Given the description of an element on the screen output the (x, y) to click on. 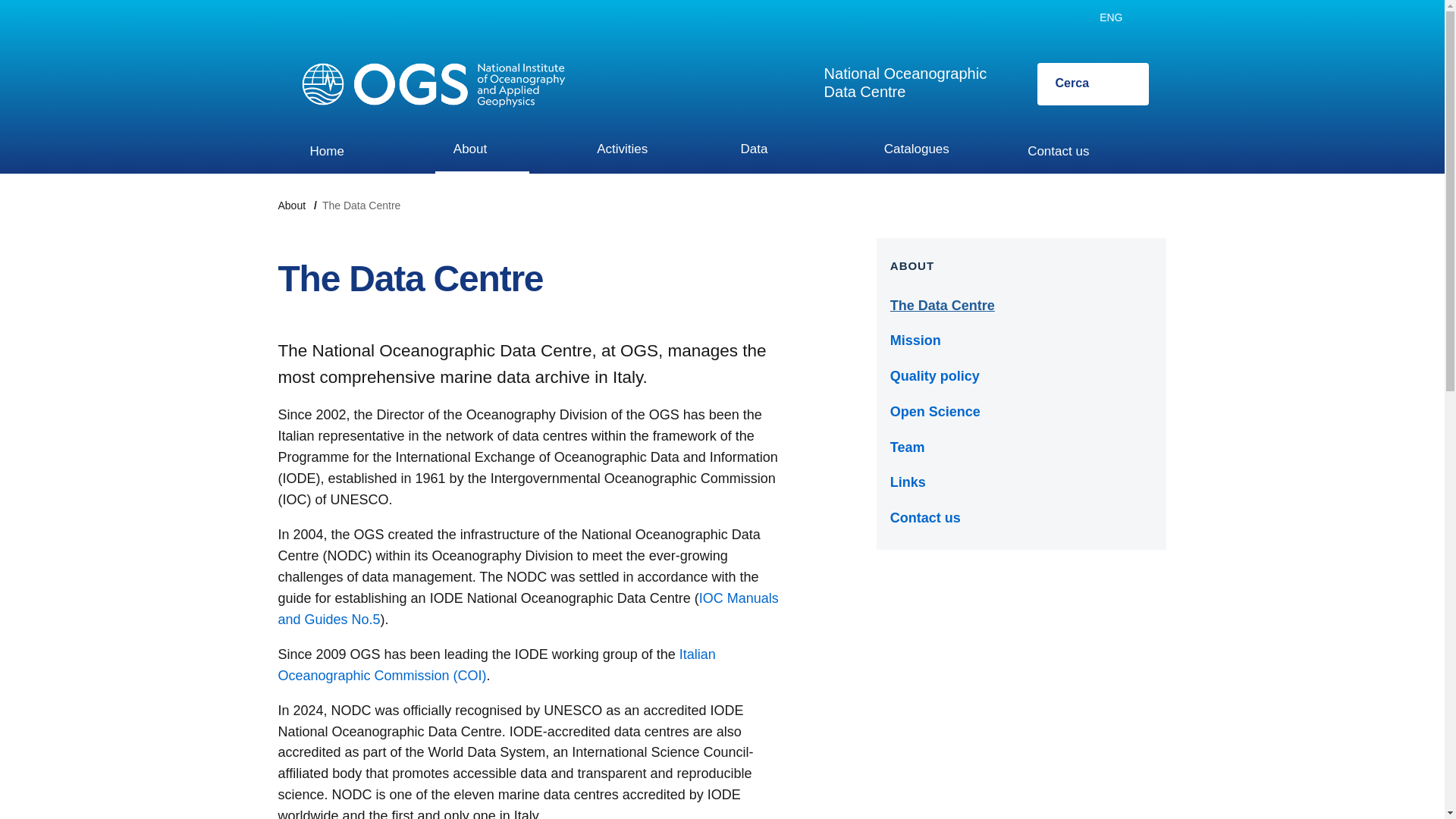
Data (765, 150)
ENG (1119, 18)
IOC Manuals and Guides No.5 (905, 82)
Home (527, 608)
Cerca (326, 152)
Contact us (1092, 84)
About (1057, 152)
Activities (482, 150)
Catalogues (634, 150)
